Given the description of an element on the screen output the (x, y) to click on. 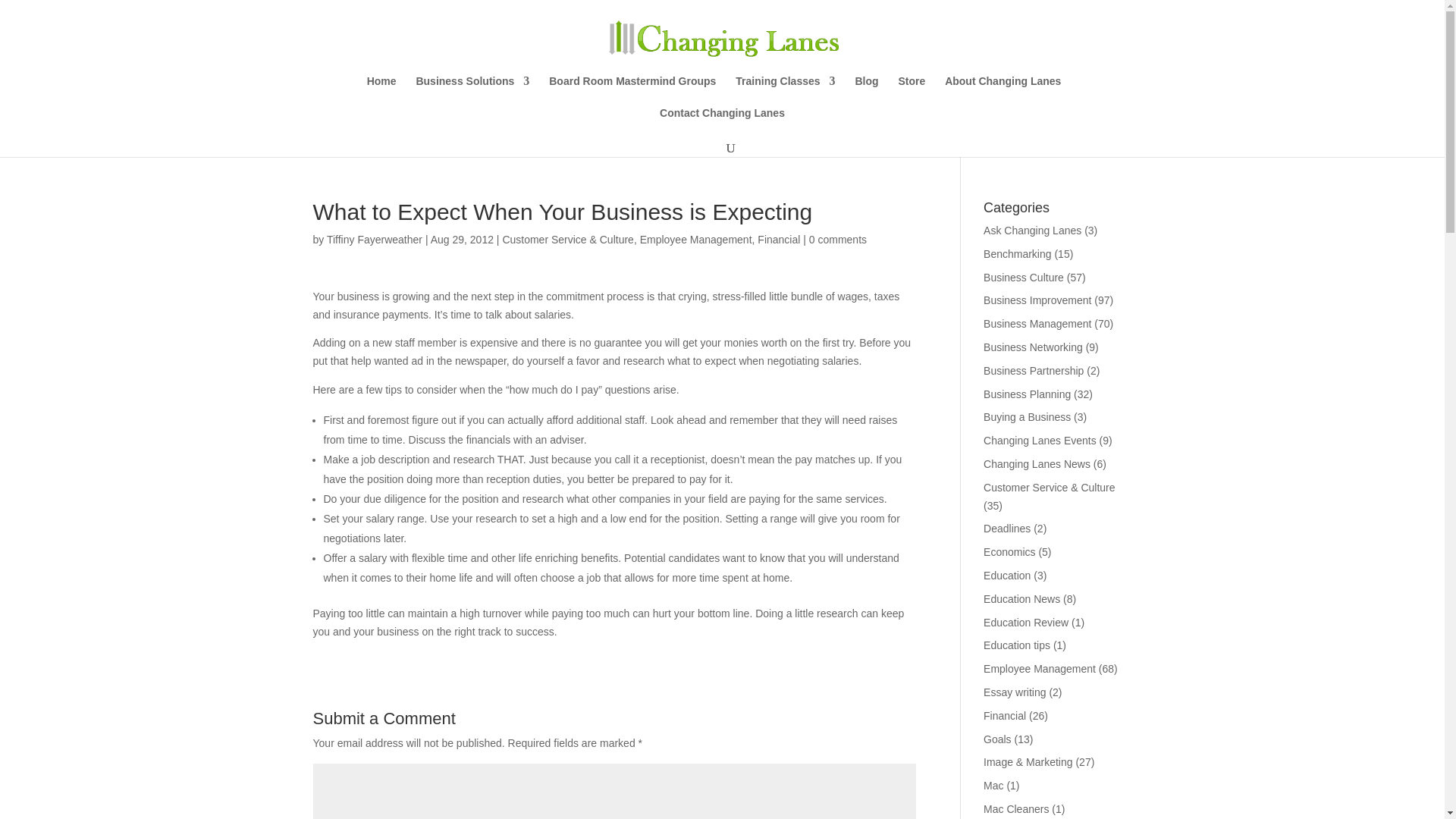
Home (381, 91)
Training Classes (784, 91)
Business Solutions (471, 91)
About Changing Lanes (1002, 91)
0 comments (837, 239)
Board Room Mastermind Groups (632, 91)
Tiffiny Fayerweather (374, 239)
Employee Management (696, 239)
Contact Changing Lanes (721, 123)
Financial (778, 239)
